Given the description of an element on the screen output the (x, y) to click on. 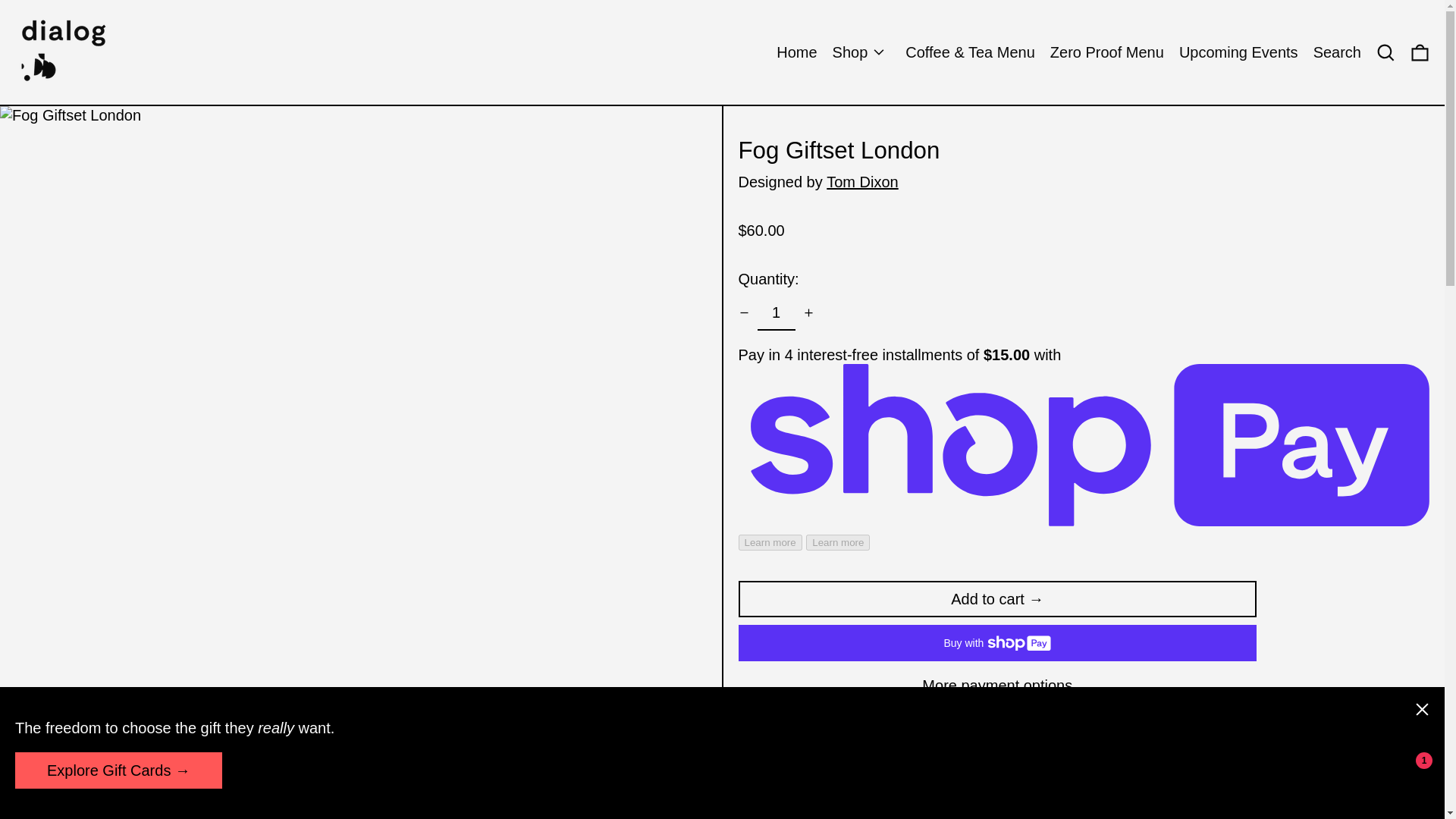
0 items (1419, 52)
Shopify online store chat (1383, 781)
Upcoming Events (1238, 52)
Shop (861, 52)
Home (796, 52)
Search (1384, 52)
1 (775, 312)
Search (1337, 52)
Zero Proof Menu (1106, 52)
